Given the description of an element on the screen output the (x, y) to click on. 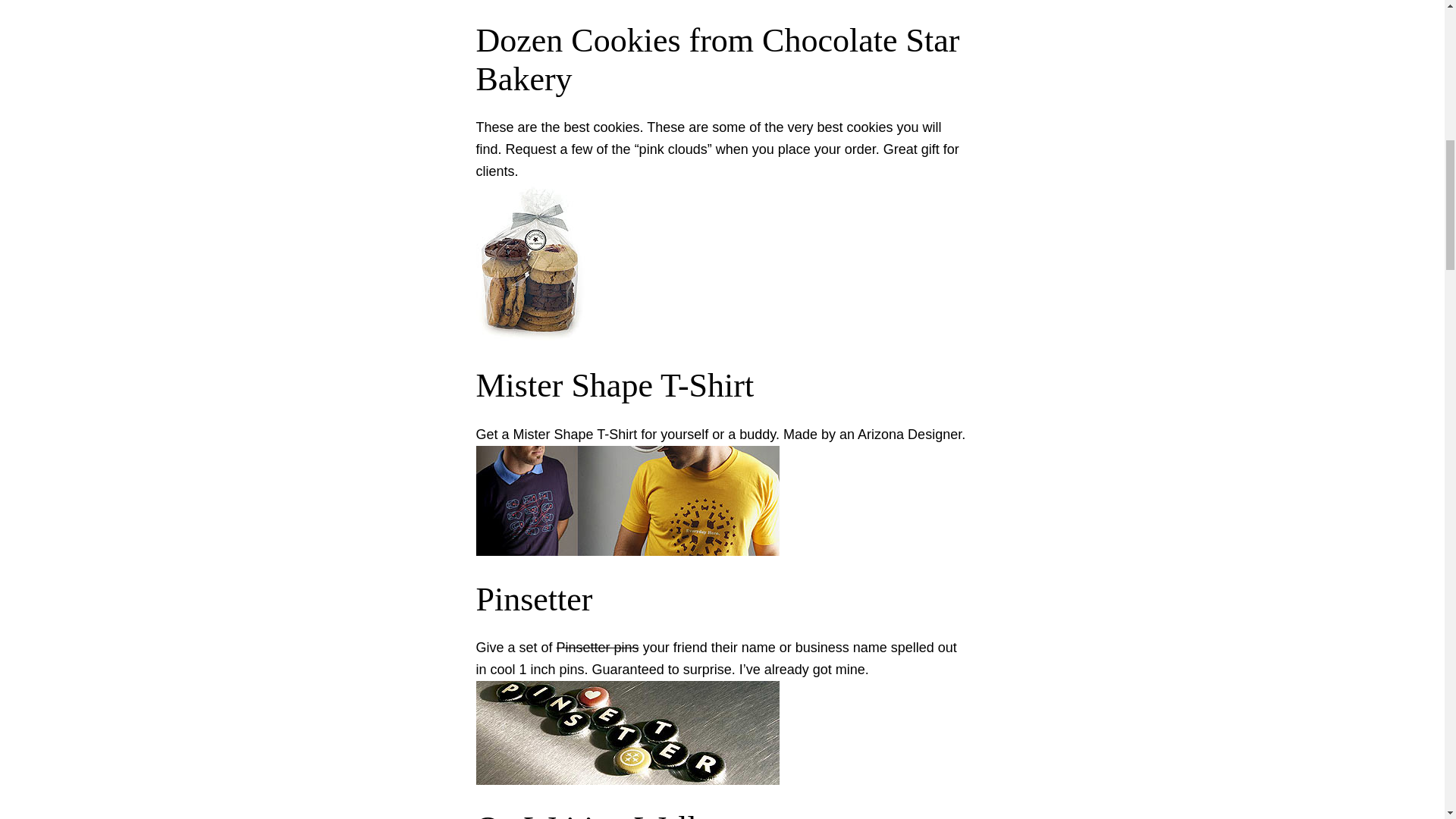
Pinsetter pins (597, 647)
